Given the description of an element on the screen output the (x, y) to click on. 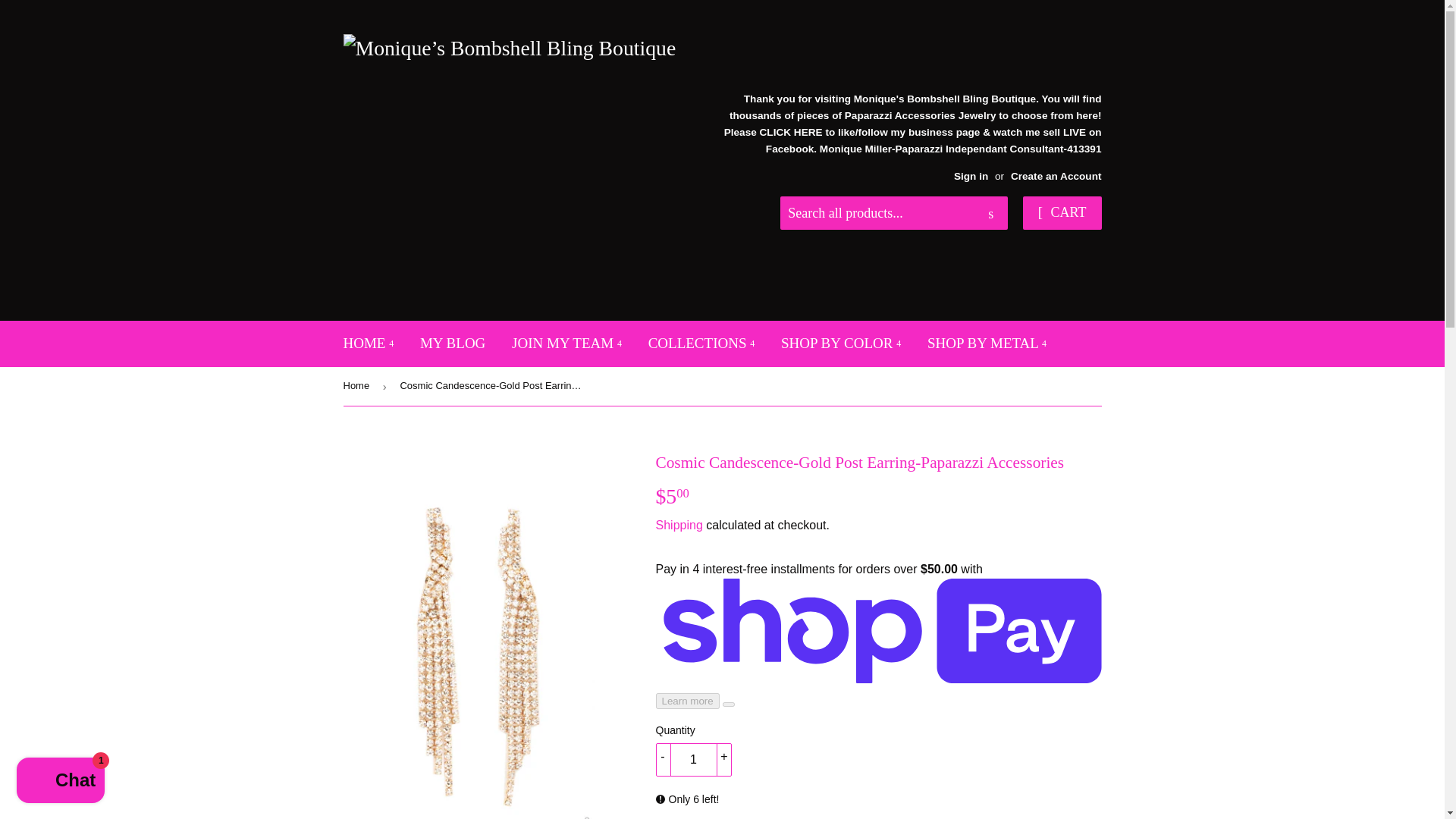
Create an Account (1056, 175)
Sign in (970, 175)
CART (1062, 213)
Shopify online store chat (60, 781)
Search (990, 214)
1 (692, 759)
